Given the description of an element on the screen output the (x, y) to click on. 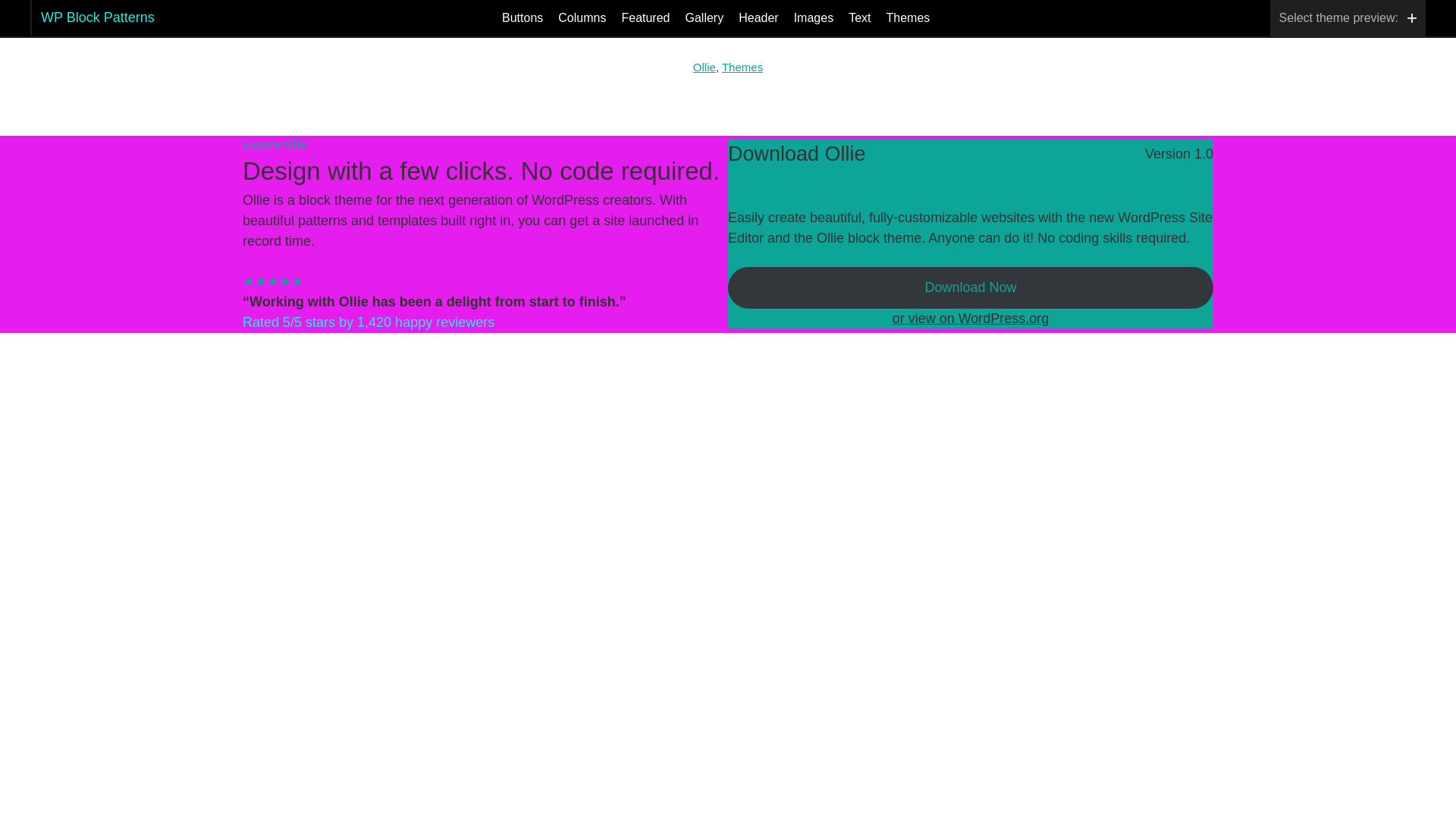
Header (757, 17)
Columns (581, 17)
Buttons (522, 17)
Themes (907, 17)
Featured (645, 17)
Gallery (704, 17)
Text (859, 17)
Images (812, 17)
WP Block Patterns (97, 17)
